Given the description of an element on the screen output the (x, y) to click on. 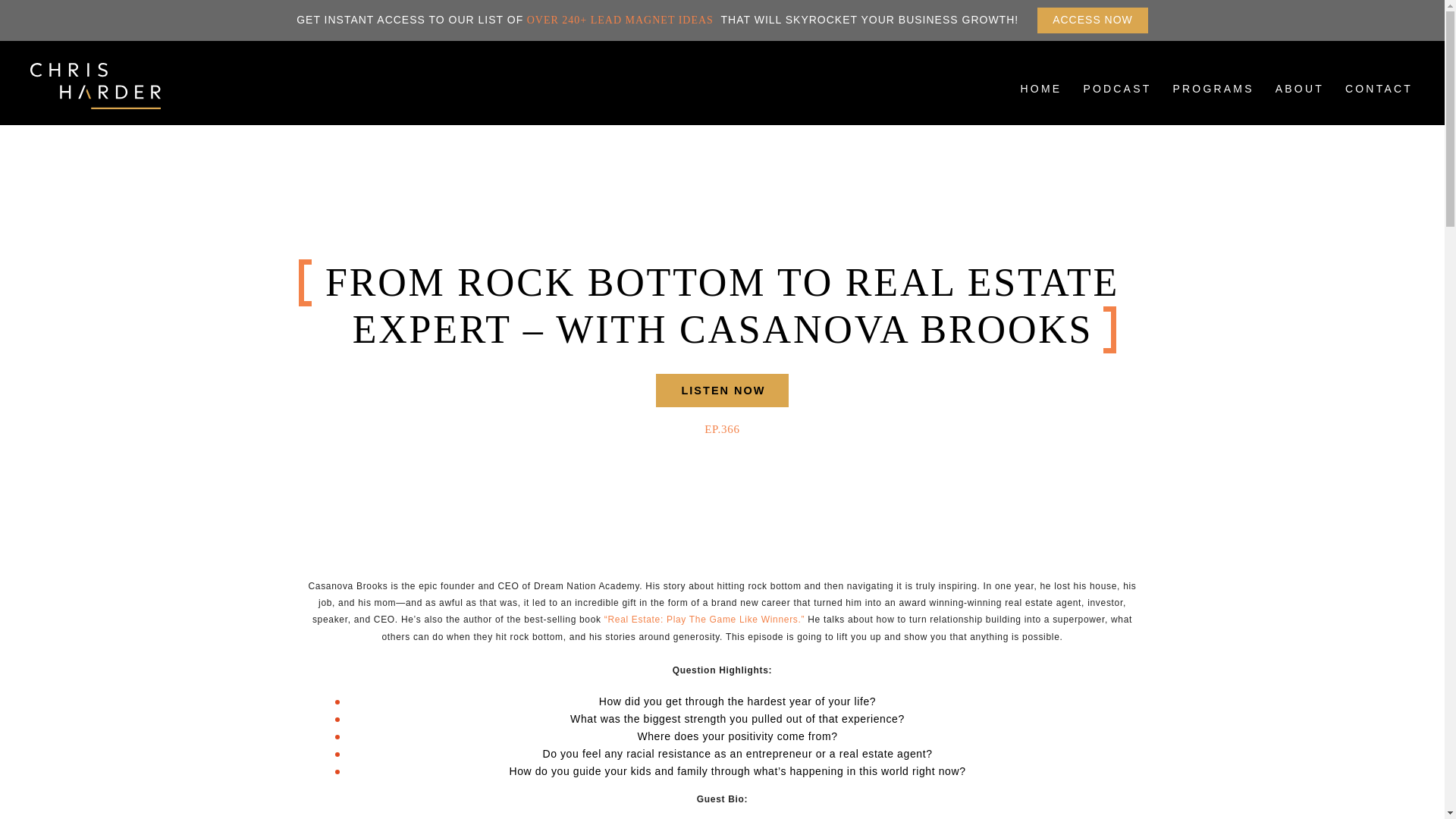
LISTEN NOW (721, 390)
PODCAST (1117, 99)
PROGRAMS (1212, 99)
CONTACT (1378, 99)
ABOUT (1299, 99)
ACCESS NOW (1092, 20)
HOME (1041, 99)
